Given the description of an element on the screen output the (x, y) to click on. 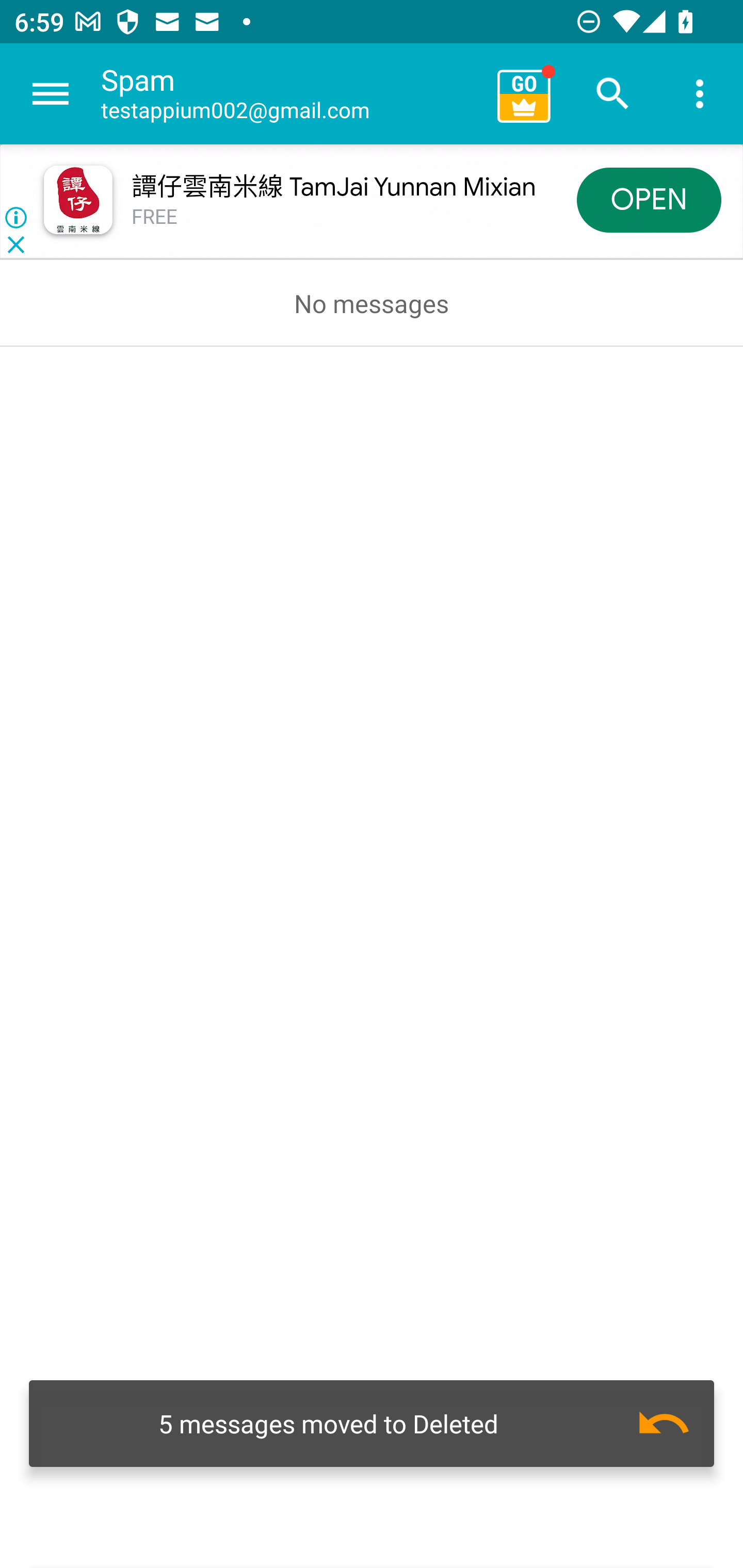
Navigate up (50, 93)
Spam testappium002@gmail.com (291, 93)
Search (612, 93)
More options (699, 93)
OPEN (648, 199)
譚仔雲南米線 TamJai Yunnan Mixian (333, 186)
FREE (154, 216)
No messages (371, 303)
Undo 5 messages moved to Deleted (371, 1423)
